Given the description of an element on the screen output the (x, y) to click on. 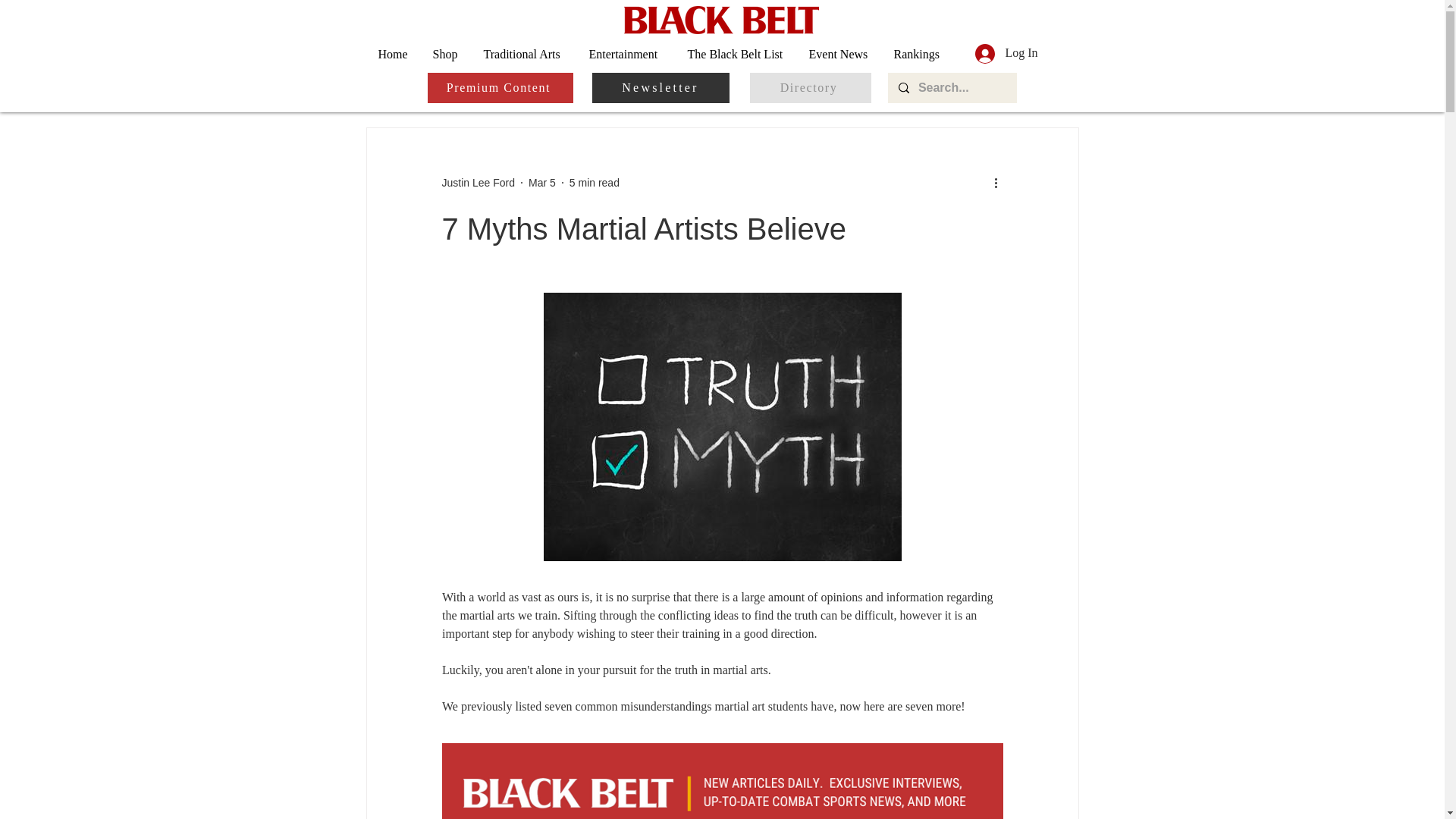
The Black Belt List (737, 52)
Entertainment (627, 52)
Justin Lee Ford (478, 182)
Directory (809, 87)
Mar 5 (542, 182)
Log In (1005, 53)
Rankings (918, 52)
Premium Content (500, 87)
Traditional Arts (523, 52)
5 min read (594, 182)
Justin Lee Ford (478, 182)
Newsletter (660, 87)
Home (394, 52)
Event News (839, 52)
